Given the description of an element on the screen output the (x, y) to click on. 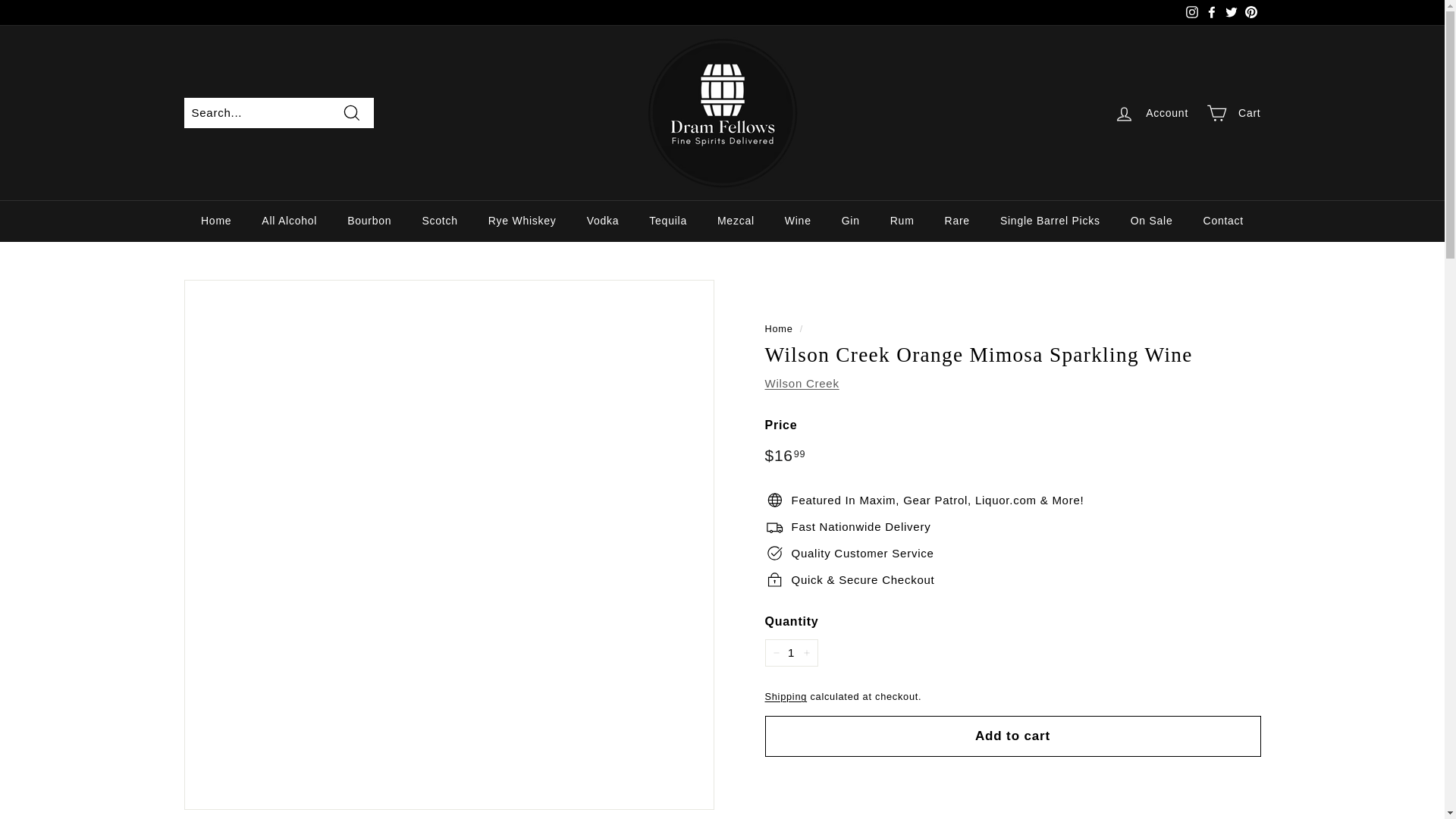
Wine (798, 219)
Bourbon (368, 219)
Mezcal (735, 219)
All Alcohol (288, 219)
Tequila (667, 219)
Rum (902, 219)
Account (1150, 112)
Scotch (438, 219)
1 (790, 652)
Home (216, 219)
Single Barrel Picks (1050, 219)
On Sale (1151, 219)
Gin (851, 219)
Rare (957, 219)
Contact (1223, 219)
